Given the description of an element on the screen output the (x, y) to click on. 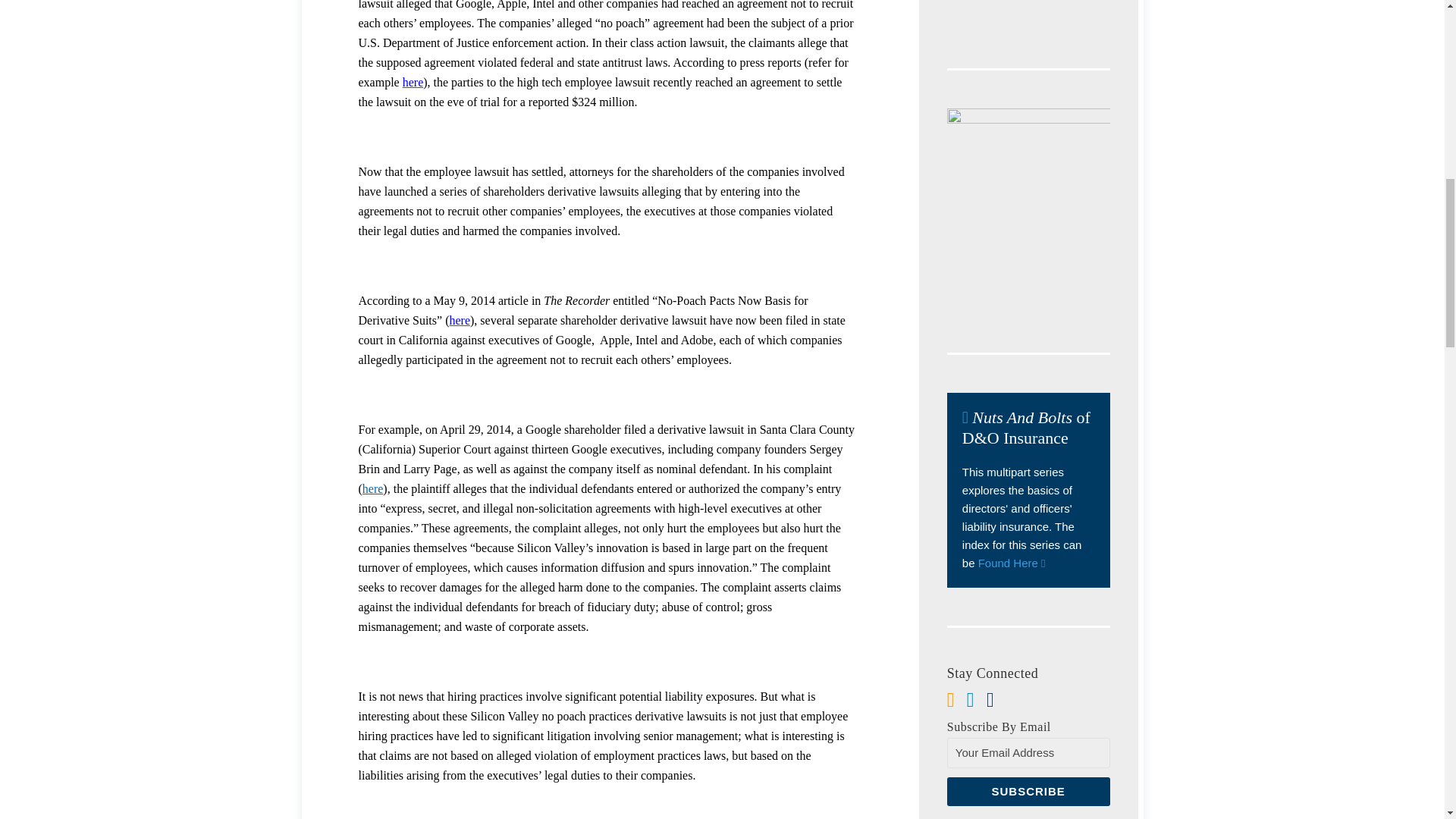
here (413, 82)
Subscribe (1028, 791)
here (459, 319)
here (373, 488)
